Given the description of an element on the screen output the (x, y) to click on. 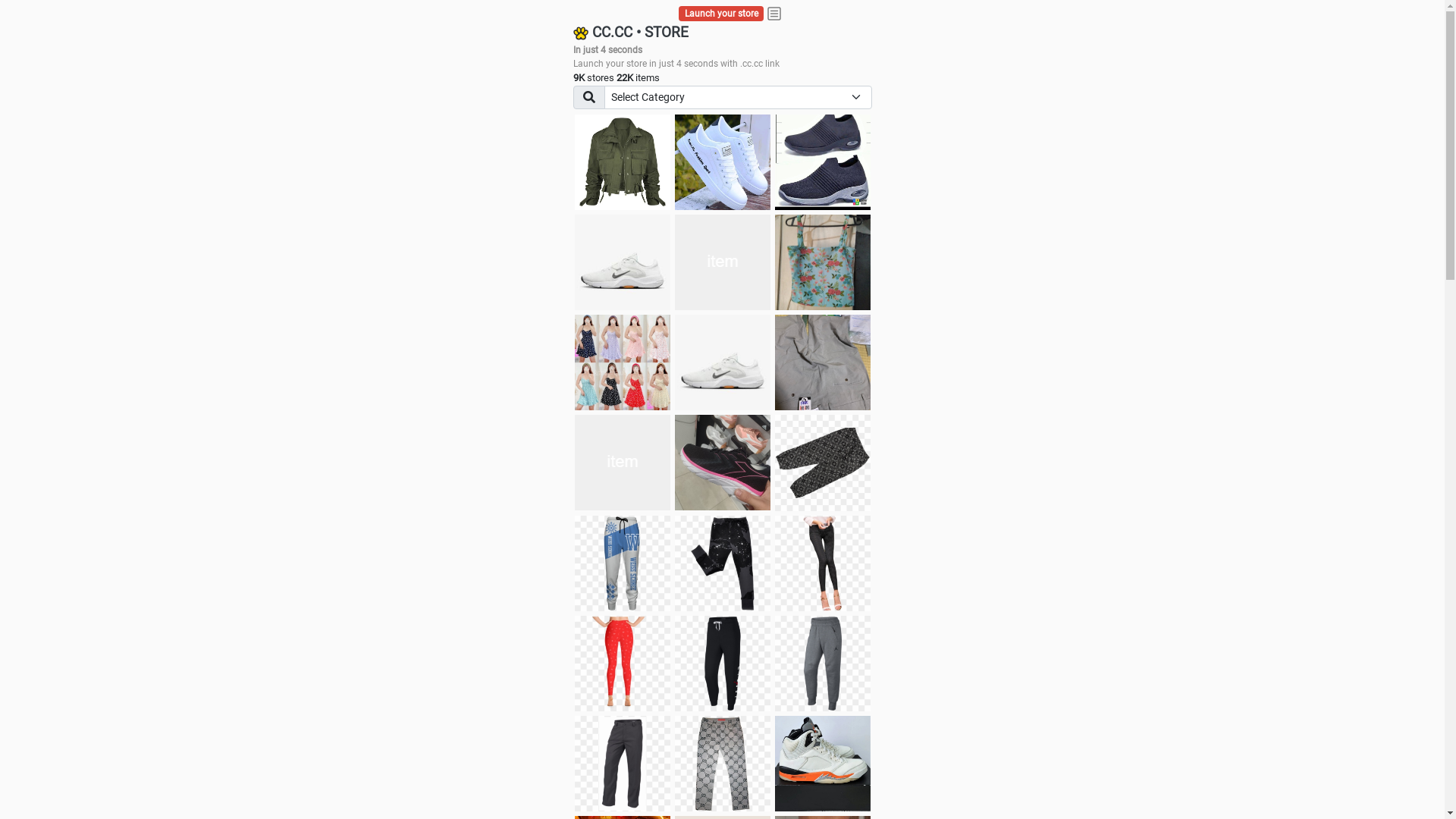
shoes for boys Element type: hover (822, 162)
Pant Element type: hover (722, 663)
white shoes Element type: hover (722, 162)
Launch your store Element type: text (721, 13)
Dress/square nect top Element type: hover (622, 362)
Zapatillas Element type: hover (722, 462)
Pant Element type: hover (722, 563)
Pant Element type: hover (622, 663)
Pant Element type: hover (622, 763)
Shoes Element type: hover (722, 362)
Pant Element type: hover (822, 663)
Pant Element type: hover (722, 763)
Pant Element type: hover (822, 563)
Zapatillas pumas Element type: hover (622, 462)
jacket Element type: hover (622, 162)
Pant Element type: hover (622, 563)
Shoe Element type: hover (822, 763)
Short pant Element type: hover (822, 462)
Things we need Element type: hover (722, 262)
Ukay cloth Element type: hover (822, 262)
Shoes for boys Element type: hover (622, 262)
